Given the description of an element on the screen output the (x, y) to click on. 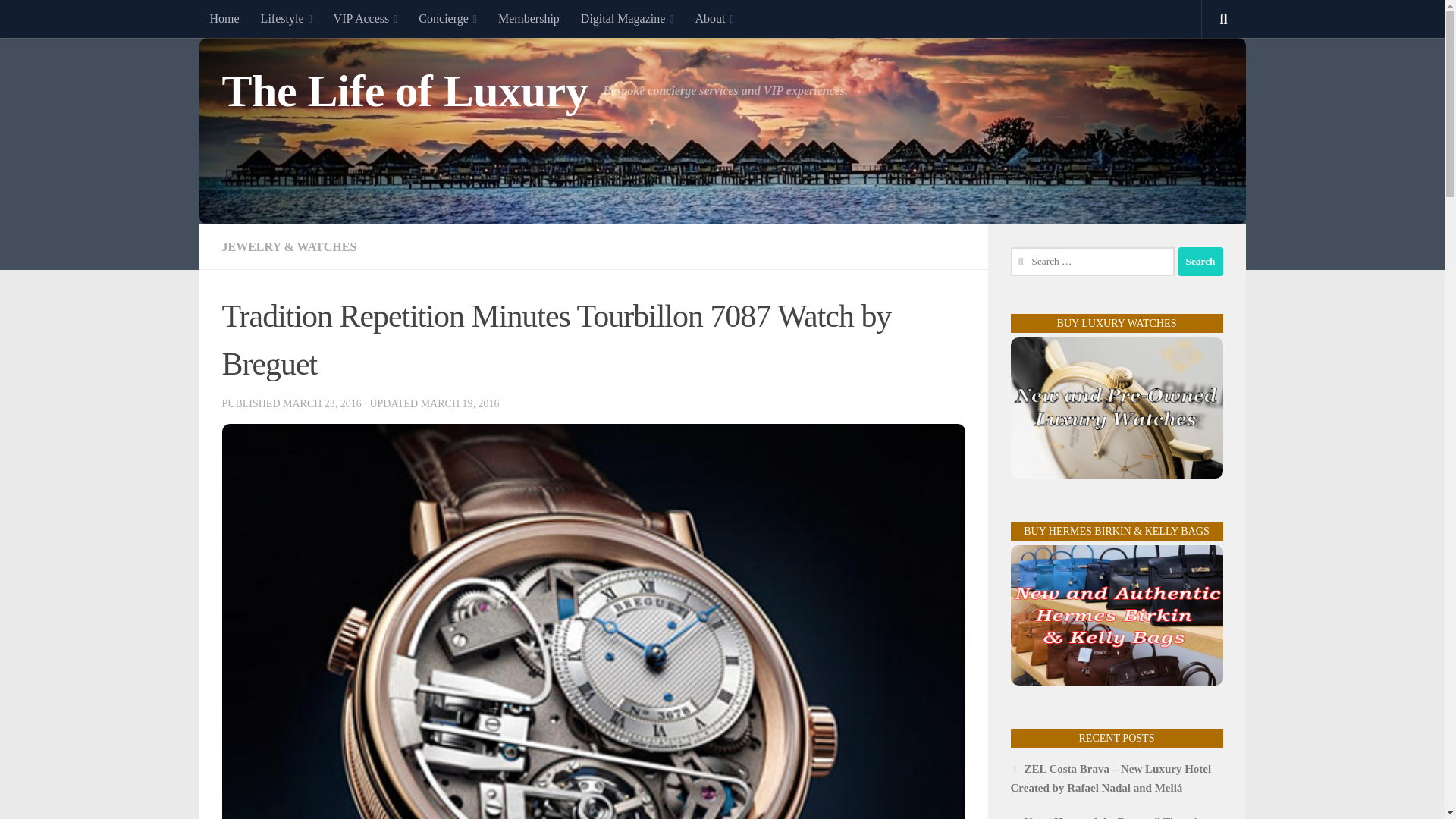
Skip to content (59, 20)
Search (1200, 261)
Search (1200, 261)
